Given the description of an element on the screen output the (x, y) to click on. 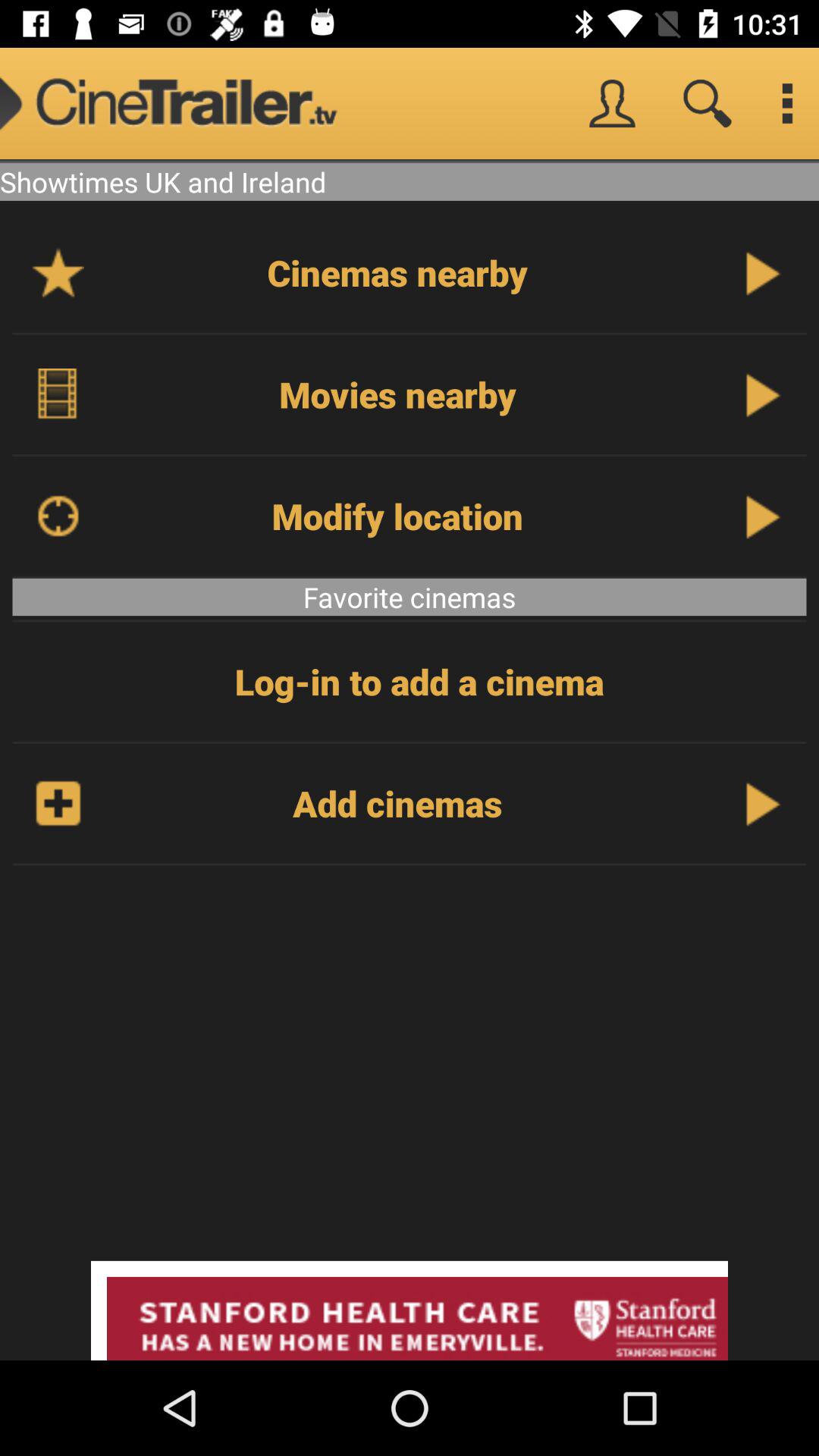
open settings (787, 103)
